Given the description of an element on the screen output the (x, y) to click on. 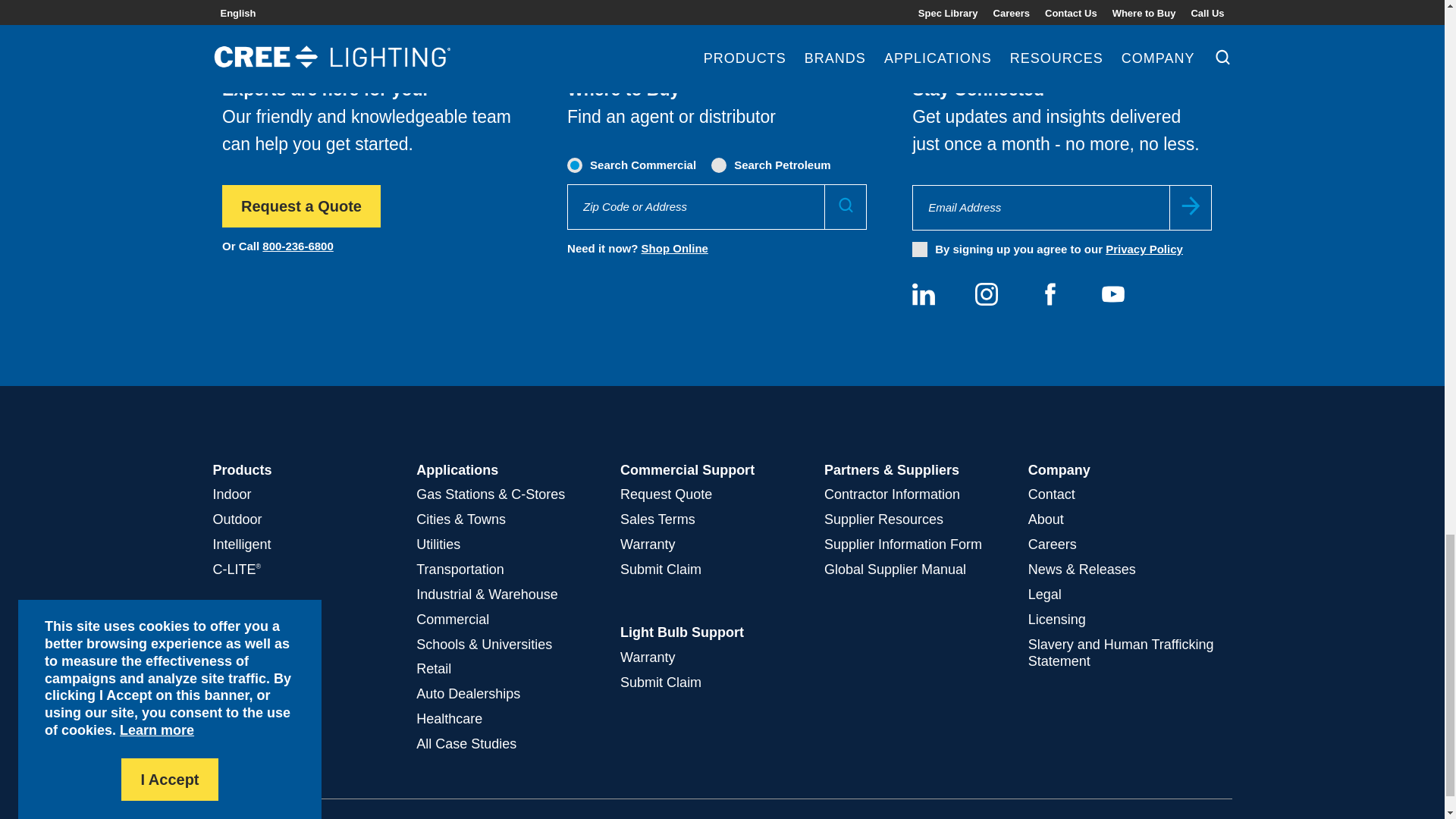
commercial (575, 164)
petroleum (719, 164)
privacy (919, 248)
